Given the description of an element on the screen output the (x, y) to click on. 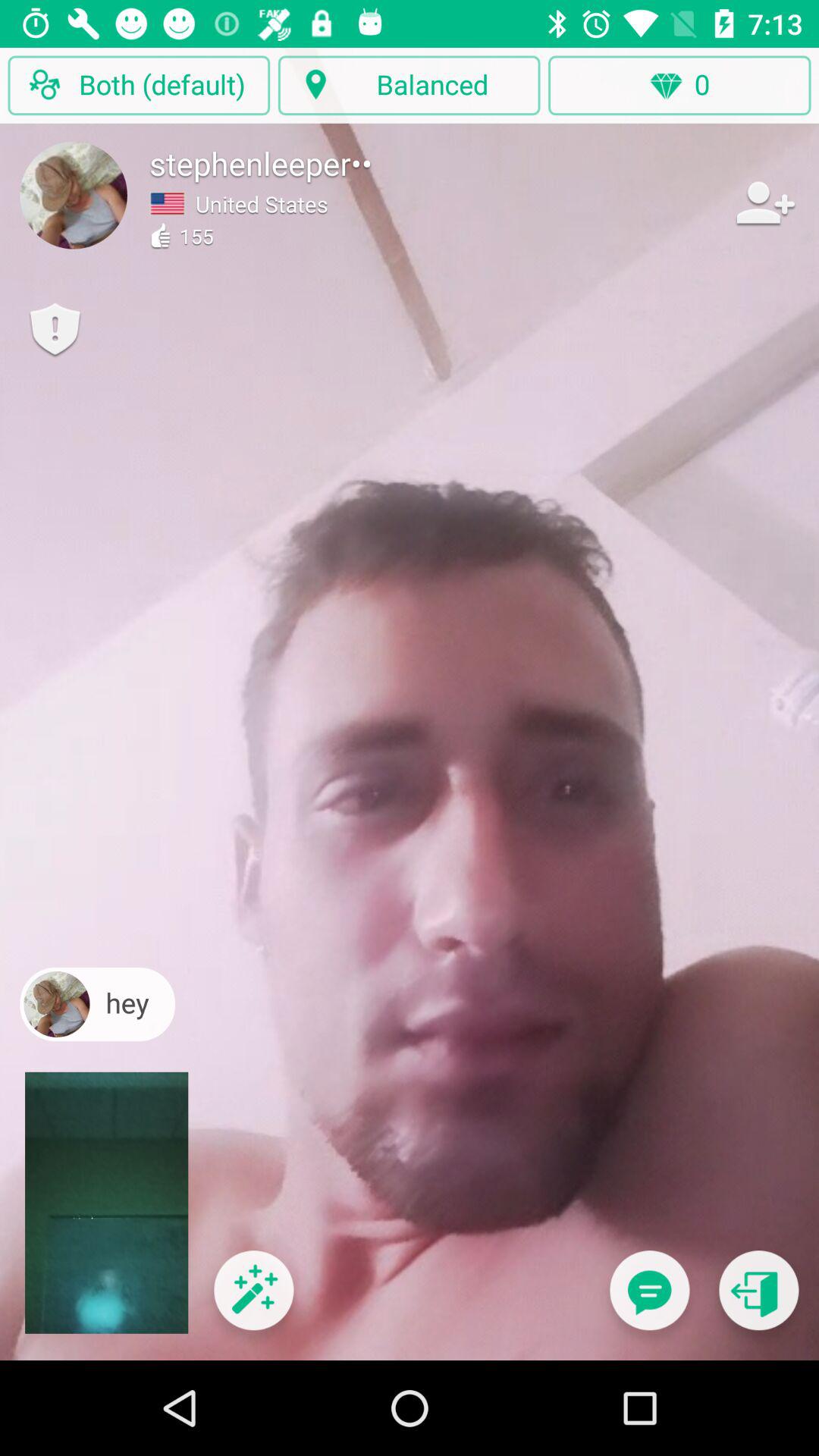
set the profile picture image (73, 195)
